Given the description of an element on the screen output the (x, y) to click on. 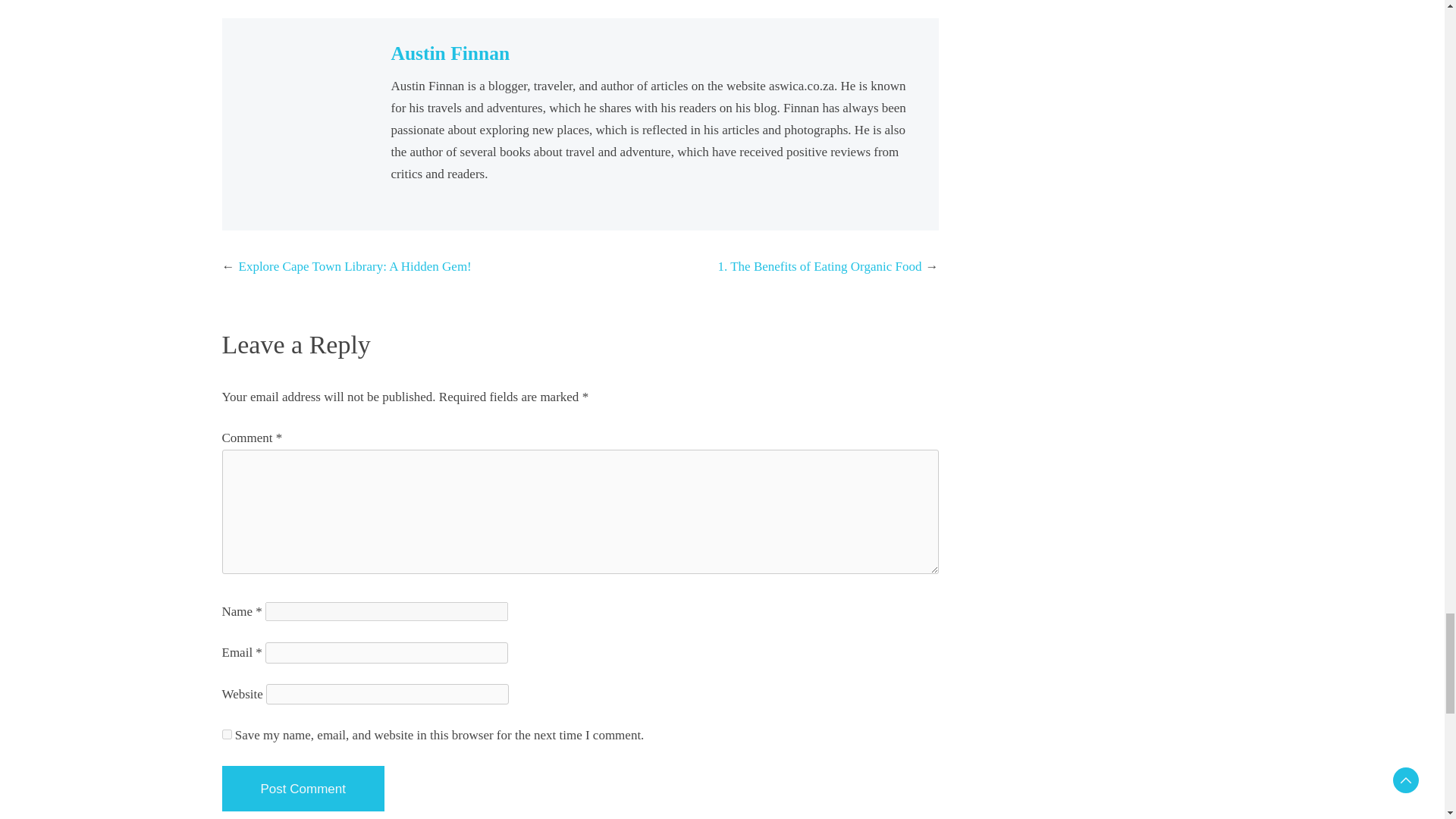
yes (226, 734)
Post Comment (302, 788)
